Given the description of an element on the screen output the (x, y) to click on. 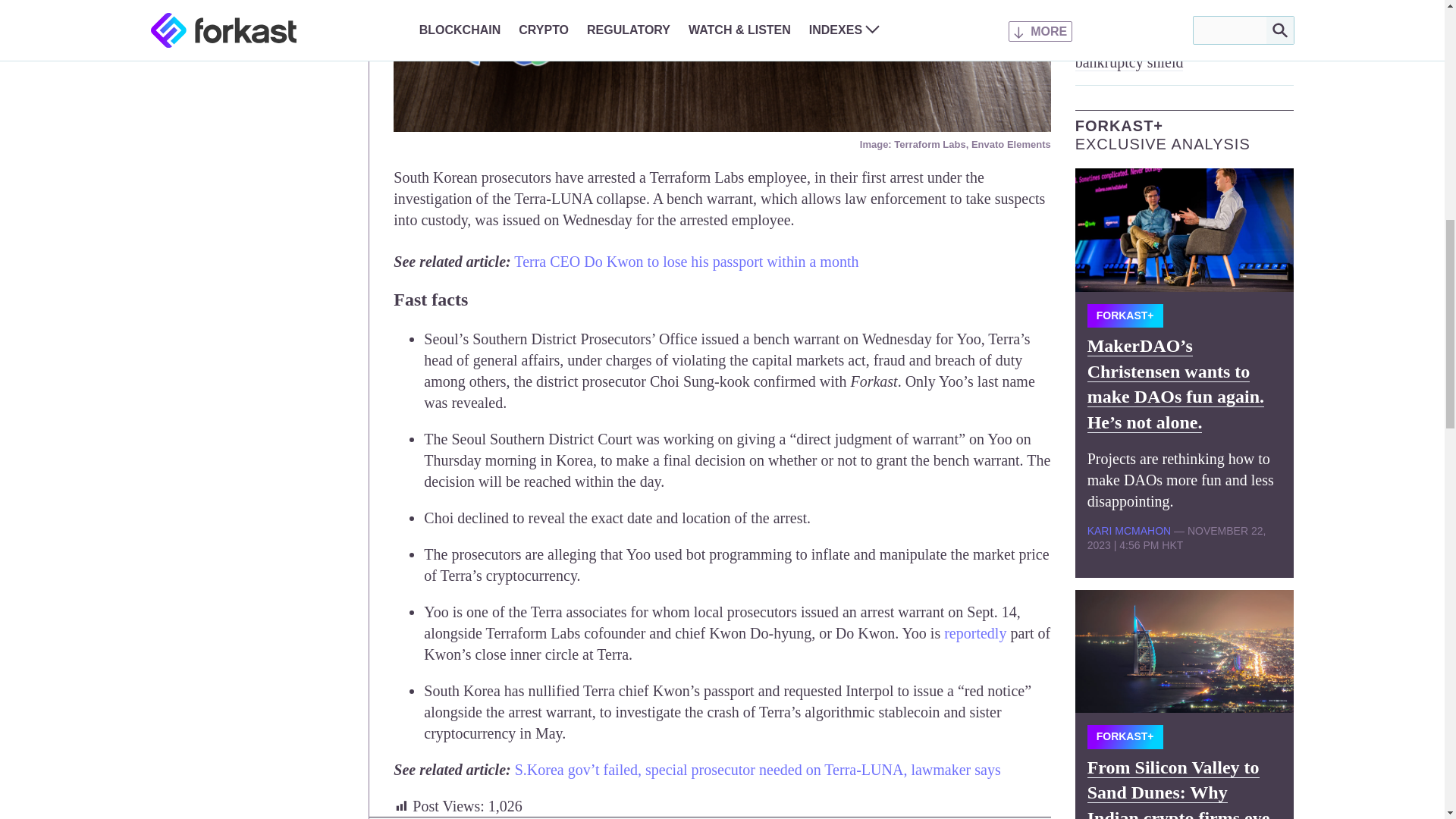
South Korea makes first arrest in Terra-LUNA investigation 1 (721, 65)
Posts by Kari McMahon (1128, 530)
